Given the description of an element on the screen output the (x, y) to click on. 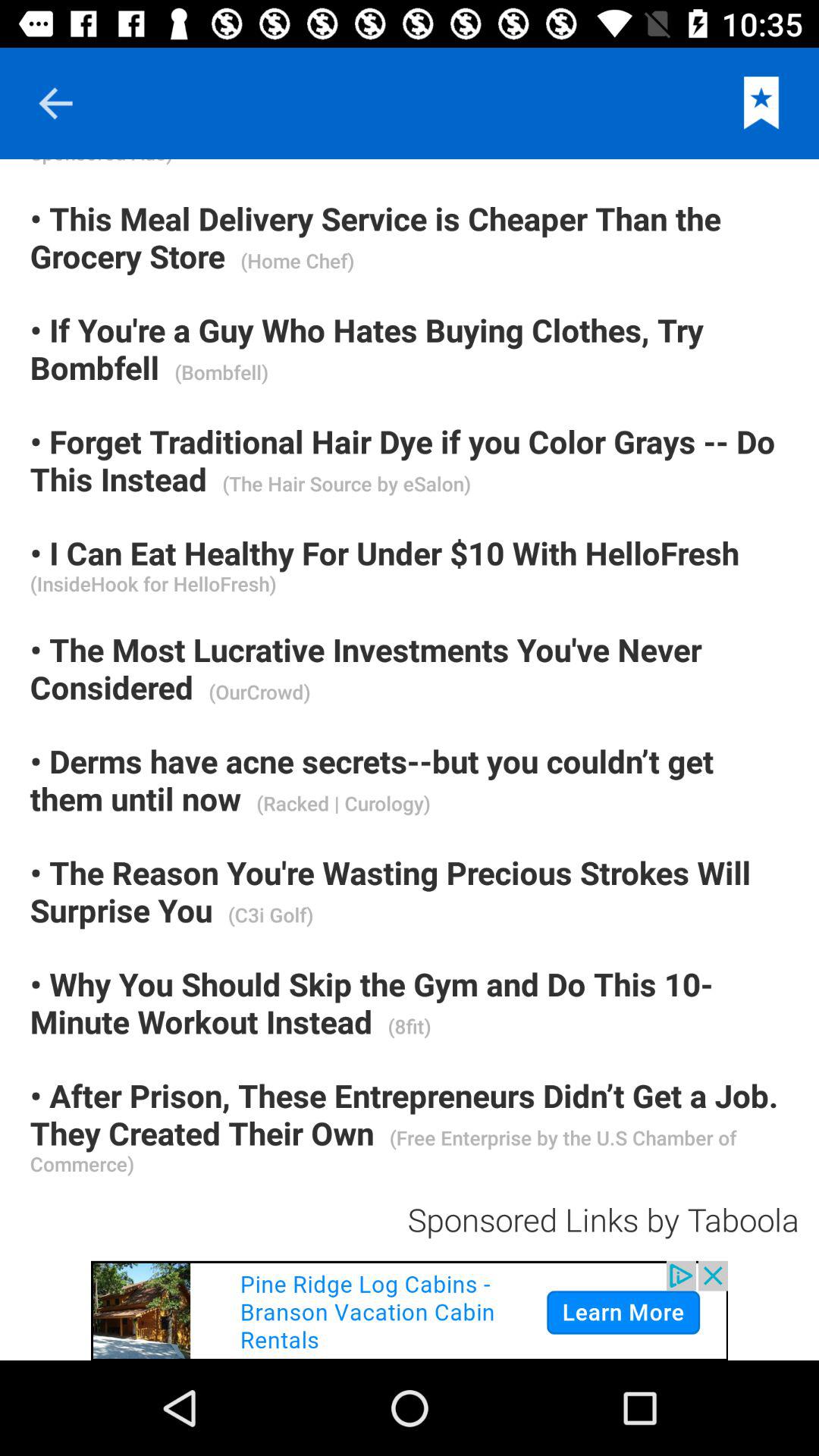
click on the star mark option below 1035 (761, 103)
